Given the description of an element on the screen output the (x, y) to click on. 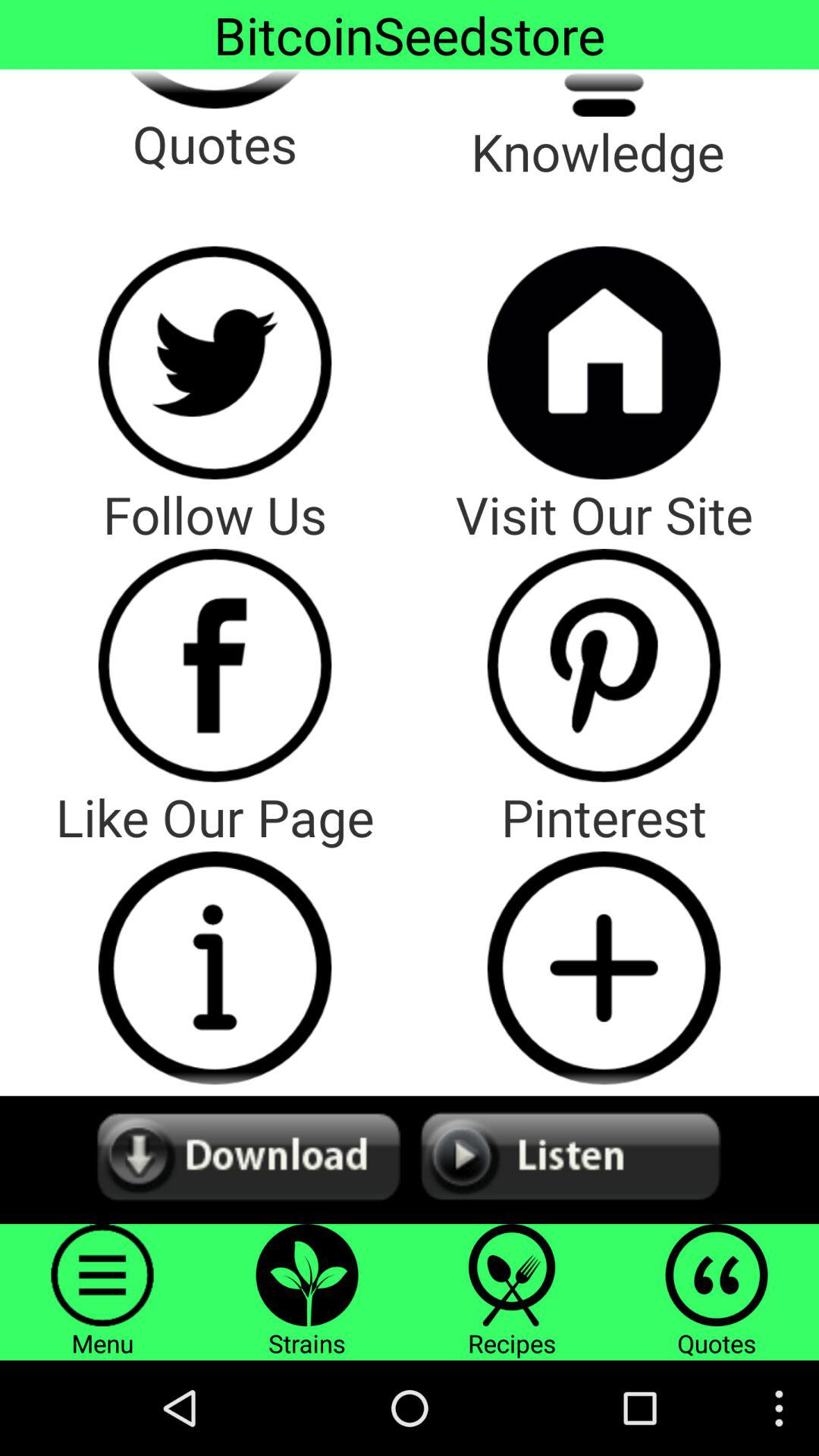
like on facebook (214, 665)
